Given the description of an element on the screen output the (x, y) to click on. 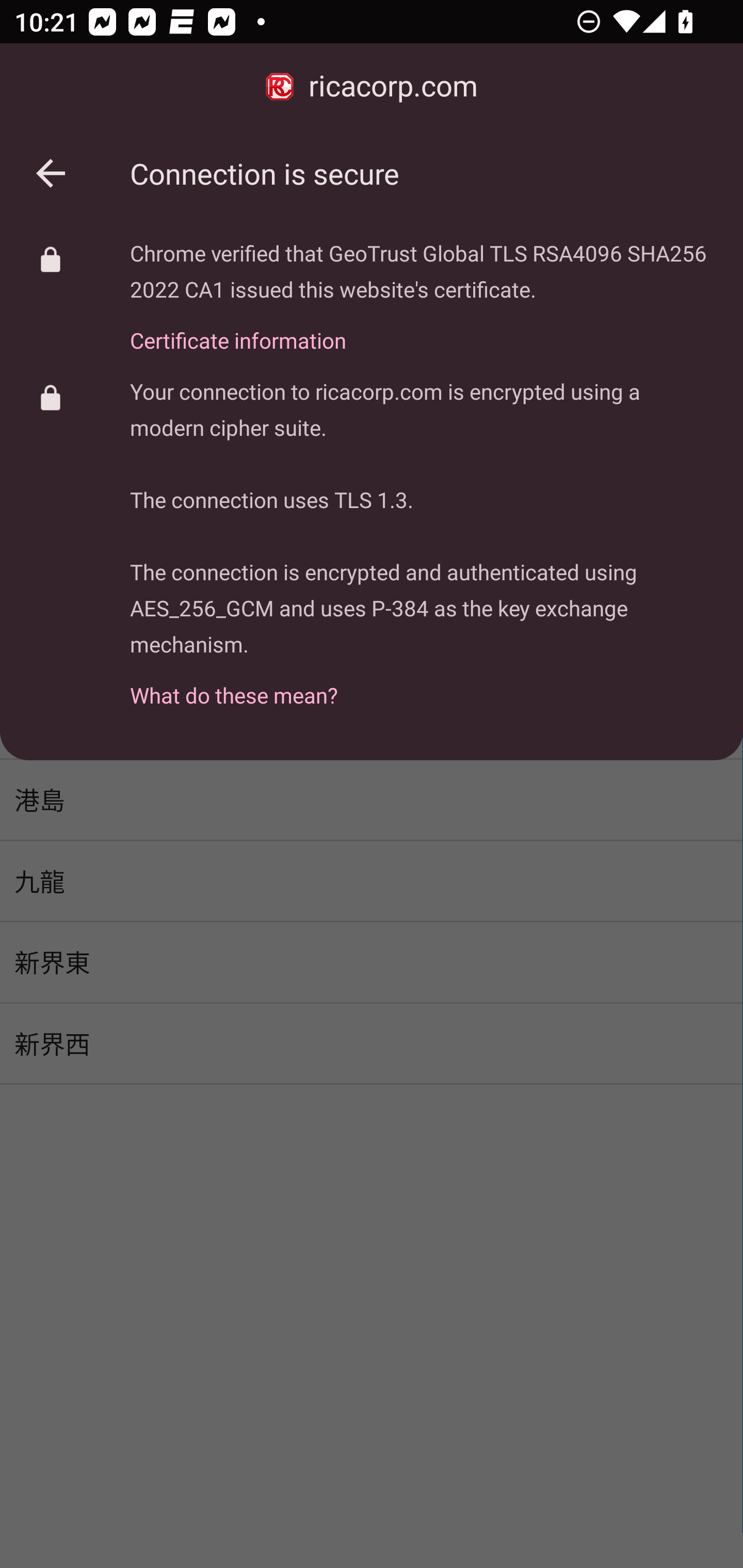
ricacorp.com (371, 86)
Back (50, 173)
Certificate information (422, 329)
What do these mean? (422, 684)
